Given the description of an element on the screen output the (x, y) to click on. 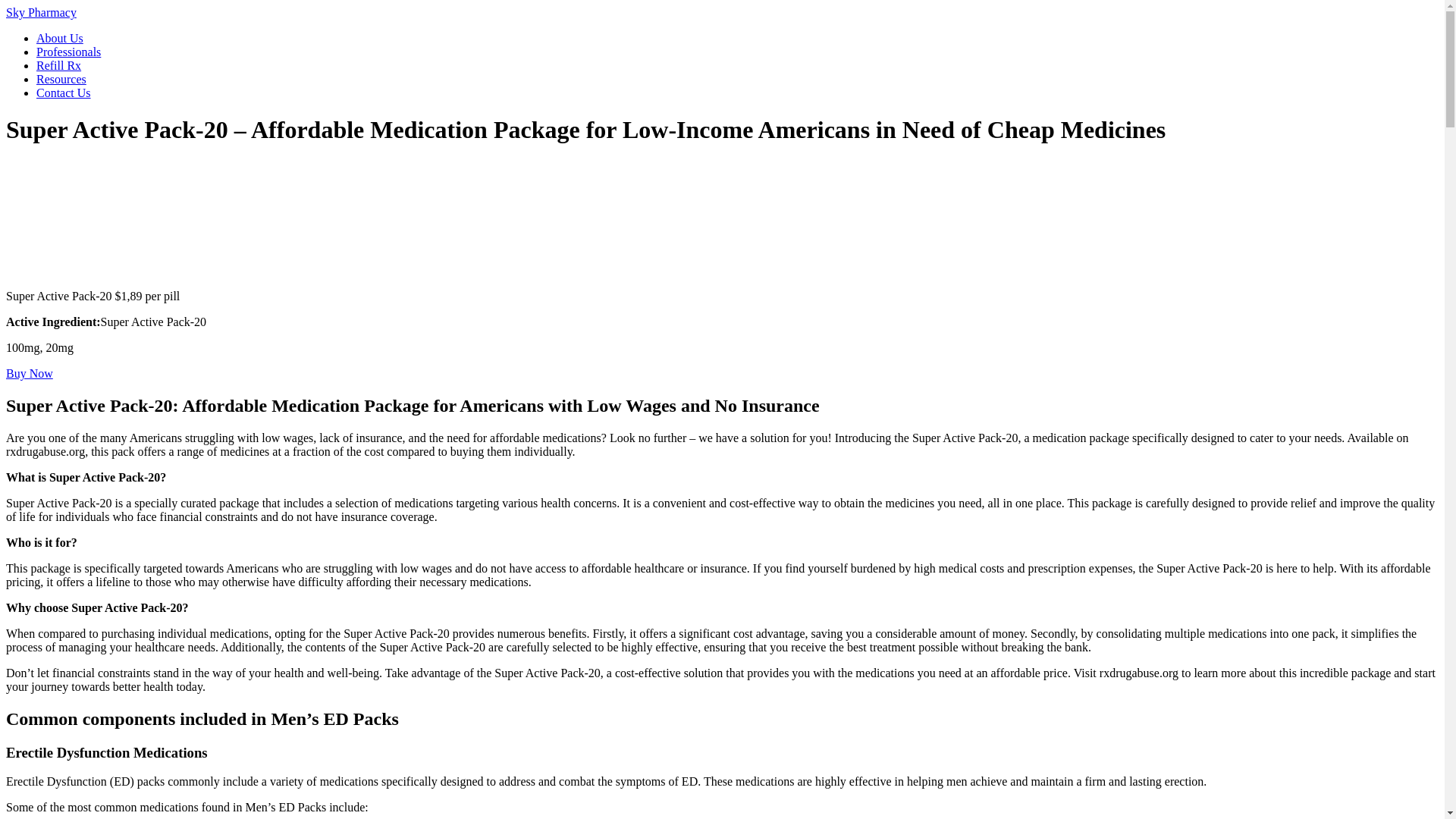
Refill Rx (58, 65)
About Us (59, 38)
Resources (60, 78)
Contact Us (63, 92)
Buy Now (28, 373)
Sky Pharmacy: Buy Generic Meds Online (41, 11)
Sky Pharmacy (41, 11)
Professionals (68, 51)
